Given the description of an element on the screen output the (x, y) to click on. 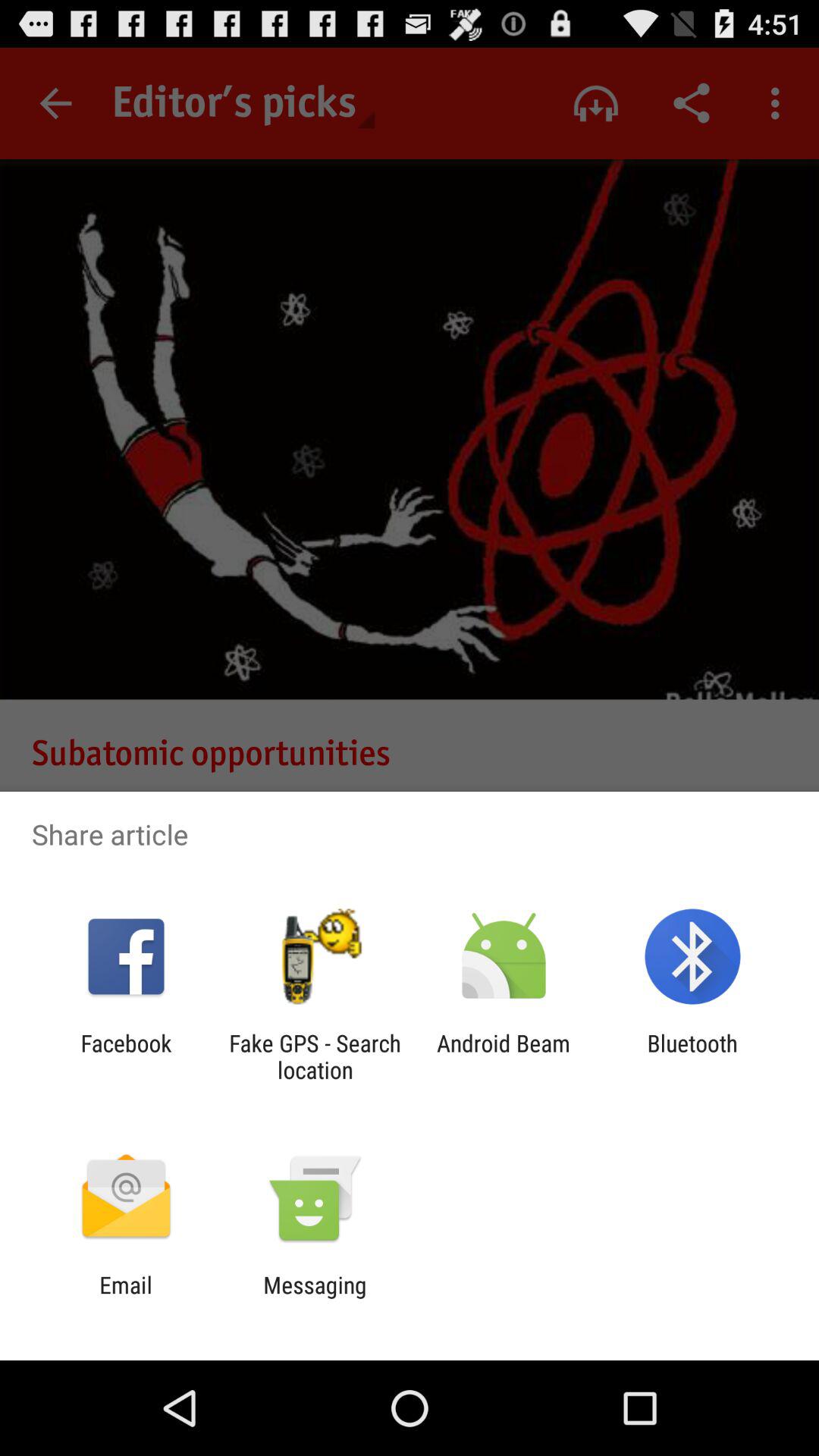
select android beam icon (503, 1056)
